Given the description of an element on the screen output the (x, y) to click on. 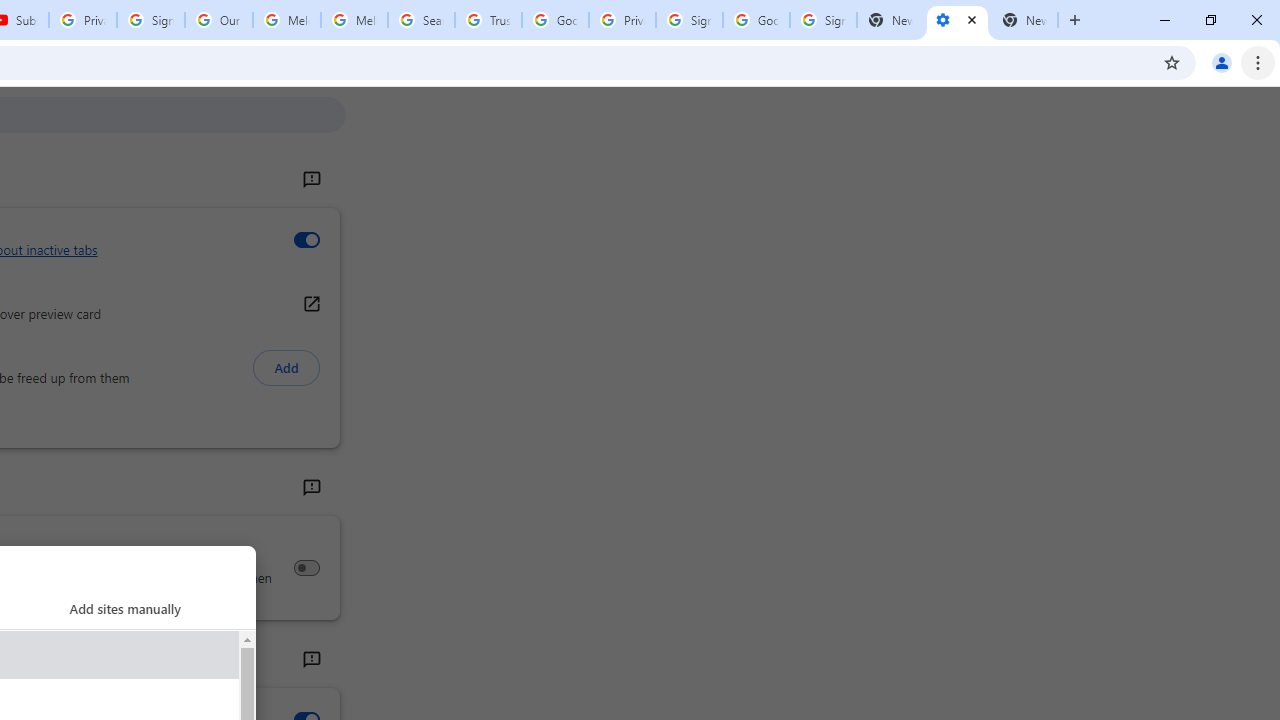
Search our Doodle Library Collection - Google Doodles (420, 20)
New Tab (1024, 20)
Trusted Information and Content - Google Safety Center (488, 20)
